Given the description of an element on the screen output the (x, y) to click on. 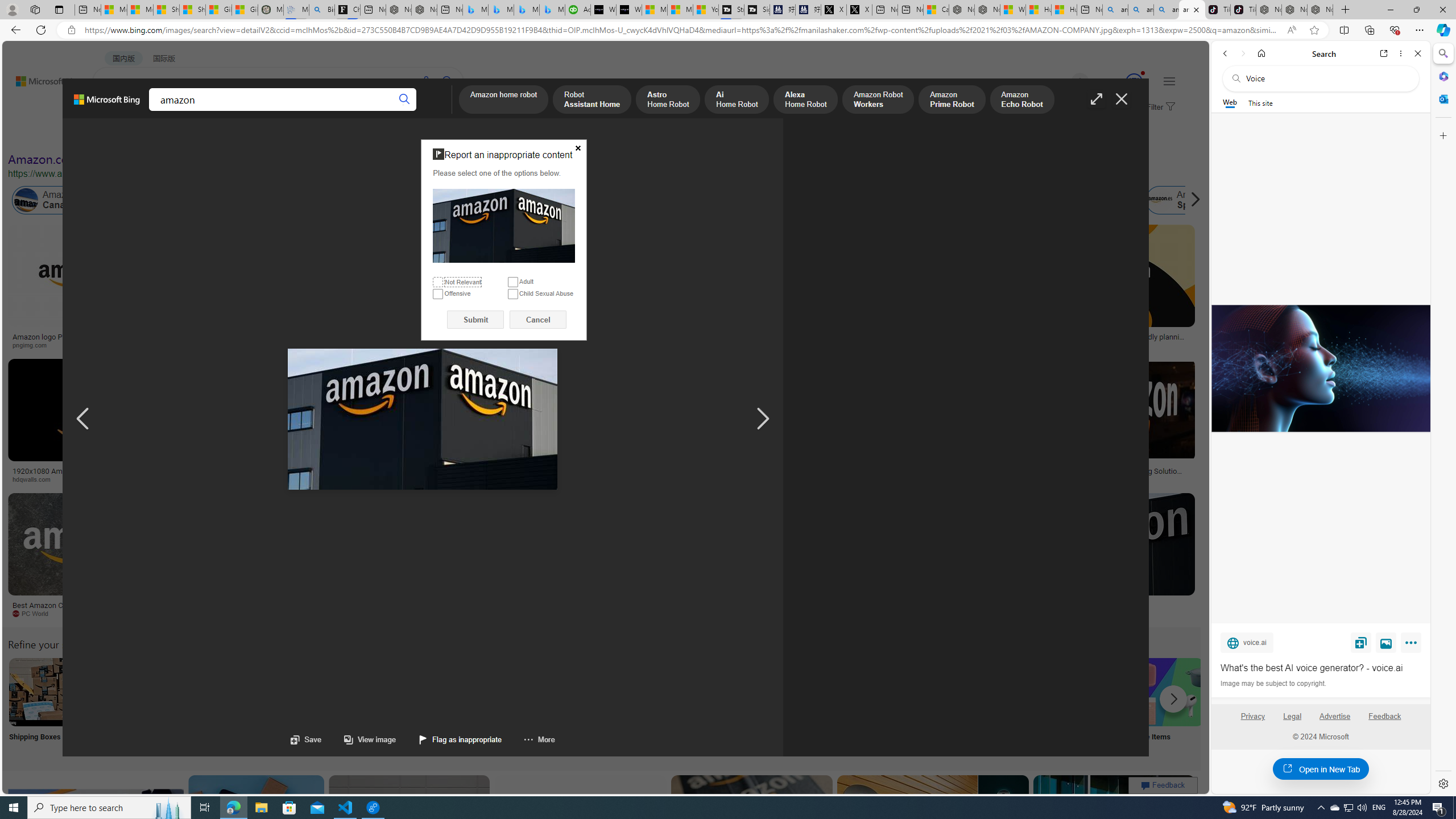
GOBankingRates (225, 479)
License (377, 135)
ACADEMIC (311, 111)
Amazon Cloud (344, 199)
Amazon.com.au (923, 199)
Not Relevant (437, 282)
vecteezy.com (938, 479)
Amazon Visa Card Login (1093, 691)
Online Store (644, 706)
Microsoft Bing, Back to Bing search (106, 104)
